Given the description of an element on the screen output the (x, y) to click on. 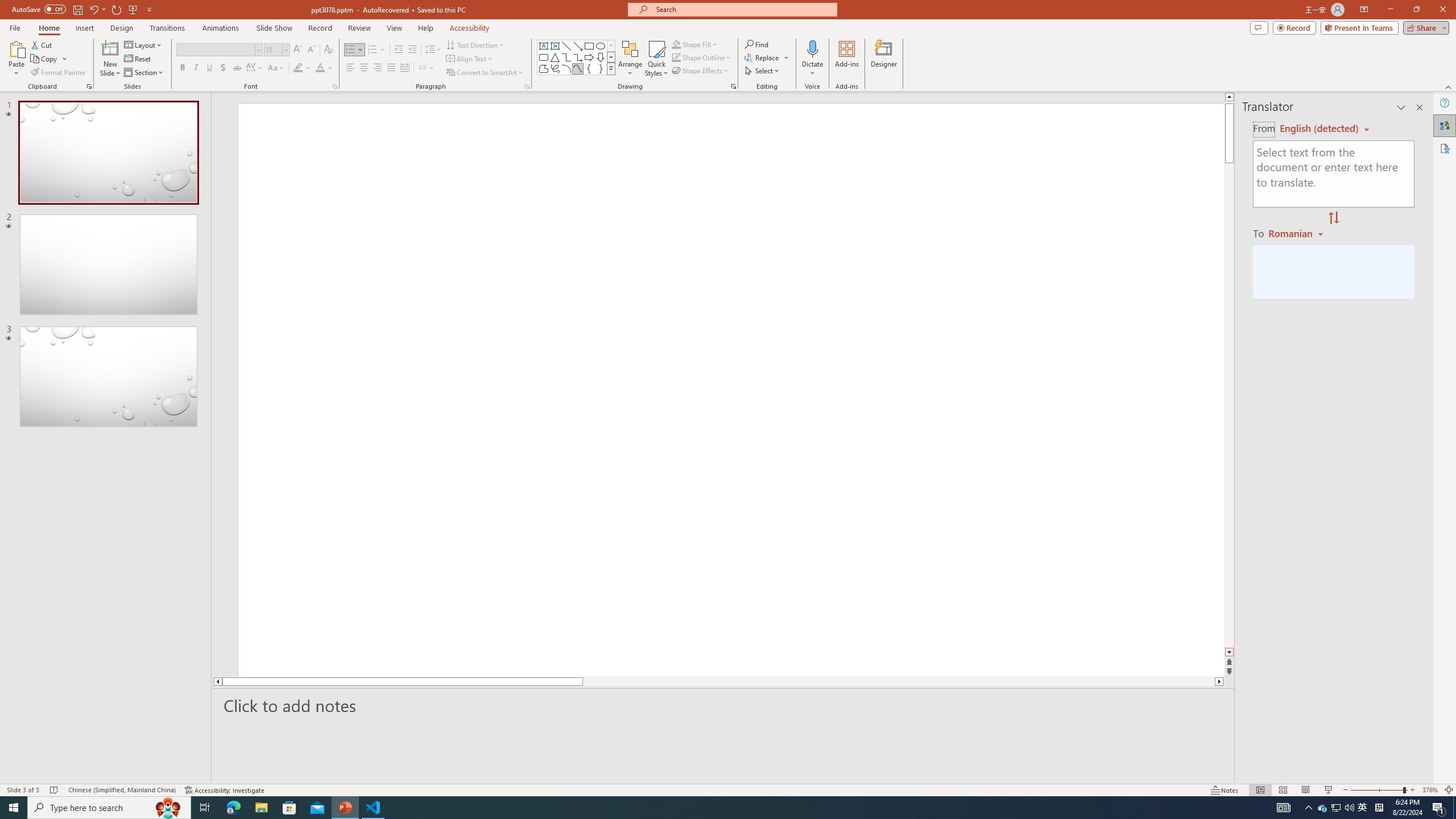
Romanian (1296, 232)
Class: MsoCommandBar (728, 789)
Text Highlight Color (302, 67)
Replace... (762, 56)
Find... (756, 44)
Font Color Red (320, 67)
Bullets (349, 49)
Shape Fill (694, 44)
New Slide (110, 48)
Increase Indent (412, 49)
Line down (1229, 652)
